Given the description of an element on the screen output the (x, y) to click on. 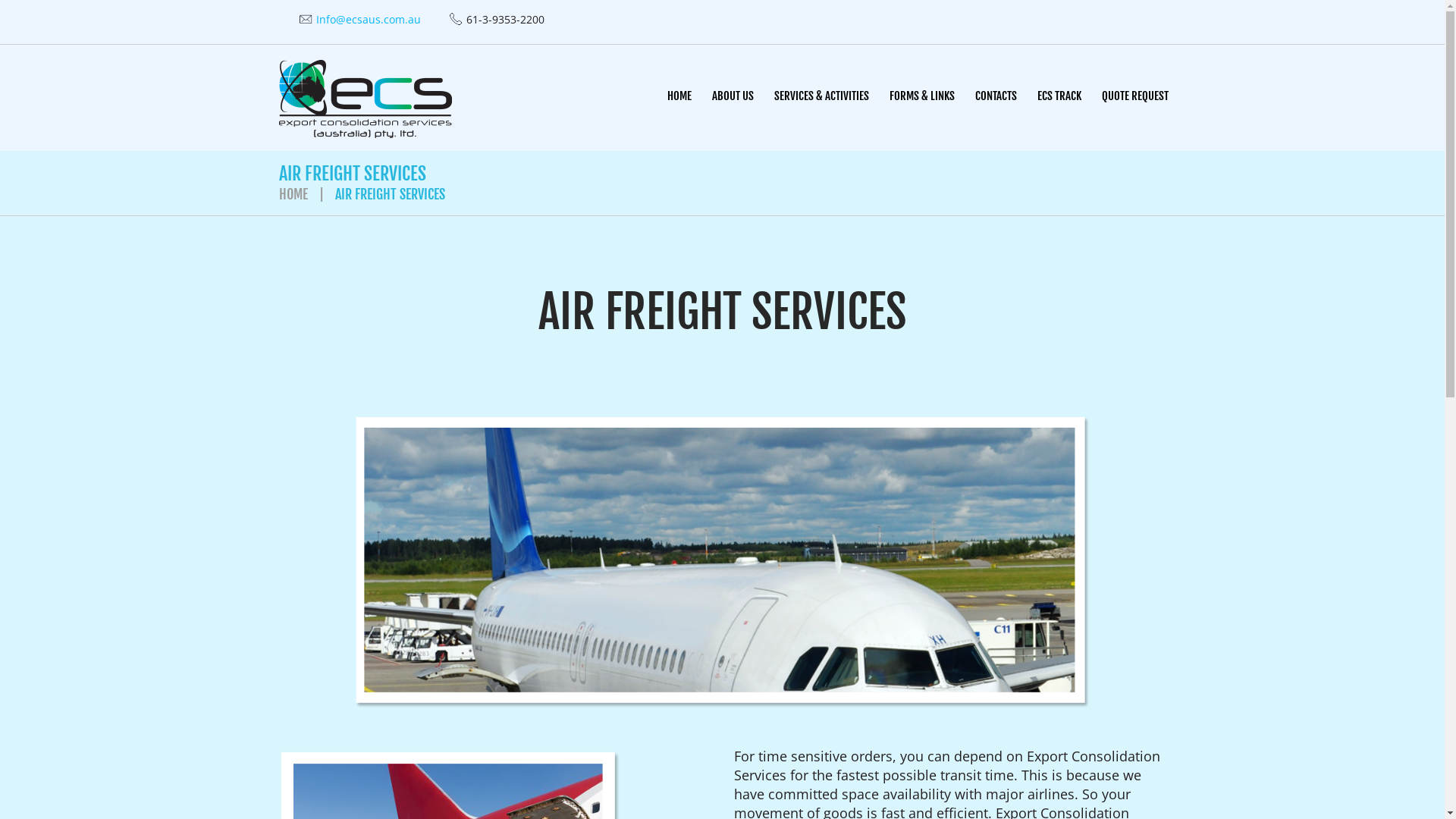
CONTACTS Element type: text (995, 96)
Info@ecsaus.com.au Element type: text (366, 19)
ABOUT US Element type: text (732, 96)
FORMS & LINKS Element type: text (922, 96)
SERVICES & ACTIVITIES Element type: text (821, 96)
QUOTE REQUEST Element type: text (1134, 96)
HOME Element type: text (293, 193)
ECS TRACK Element type: text (1058, 96)
HOME Element type: text (678, 96)
